Given the description of an element on the screen output the (x, y) to click on. 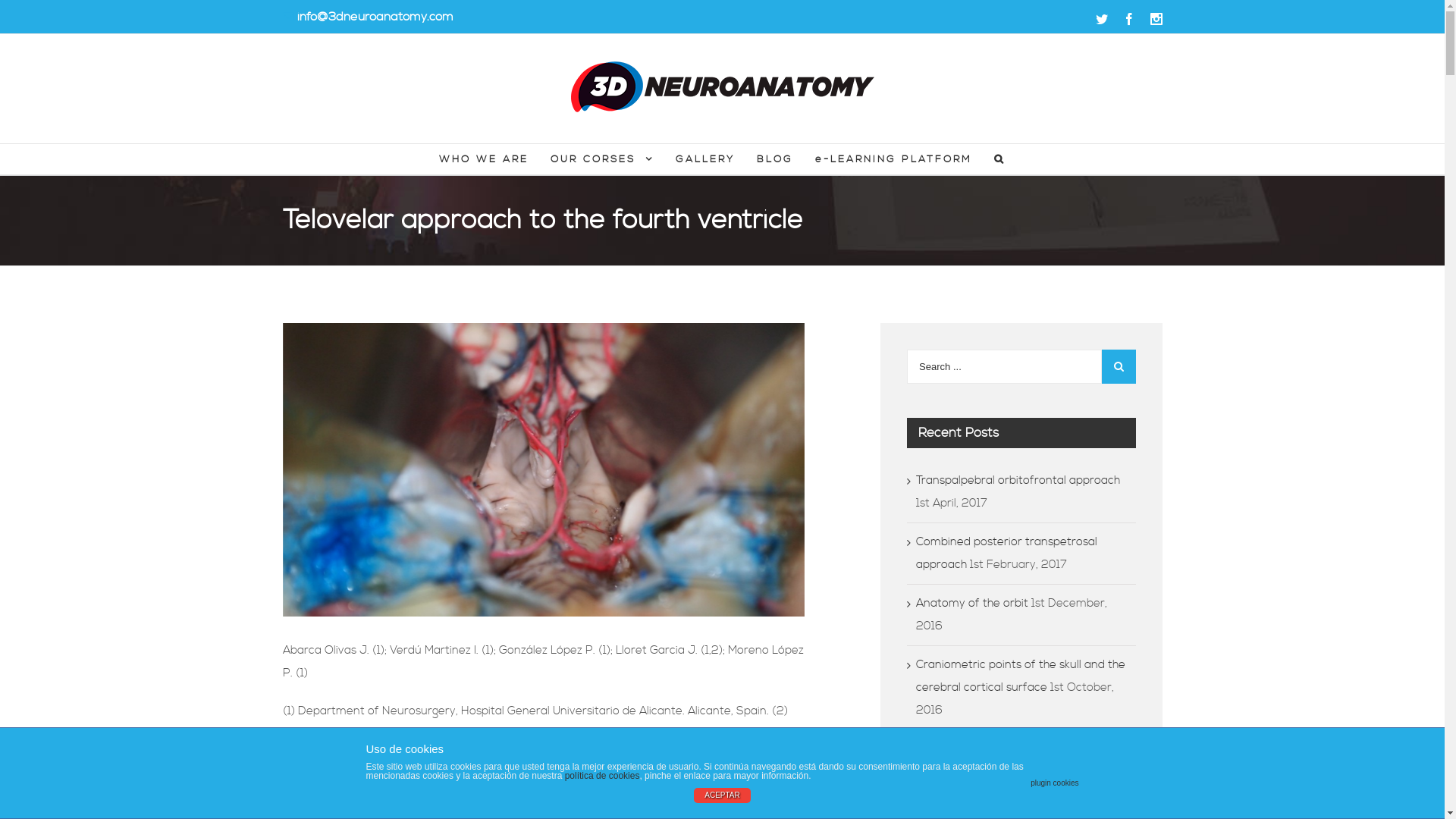
plugin cookies Element type: text (1054, 783)
WHO WE ARE Element type: text (483, 159)
Transpalpebral orbitofrontal approach Element type: text (1018, 480)
GALLERY Element type: text (704, 159)
info@3dneuroanatomy.com Element type: text (375, 16)
ACEPTAR Element type: text (721, 795)
OUR CORSES Element type: text (601, 159)
BLOG Element type: text (774, 159)
Anatomy of the orbit Element type: text (972, 603)
Combined posterior transpetrosal approach Element type: text (1006, 552)
e-LEARNING PLATFORM Element type: text (893, 159)
Nasal anatomy and osseous relantionships Element type: text (991, 759)
